Given the description of an element on the screen output the (x, y) to click on. 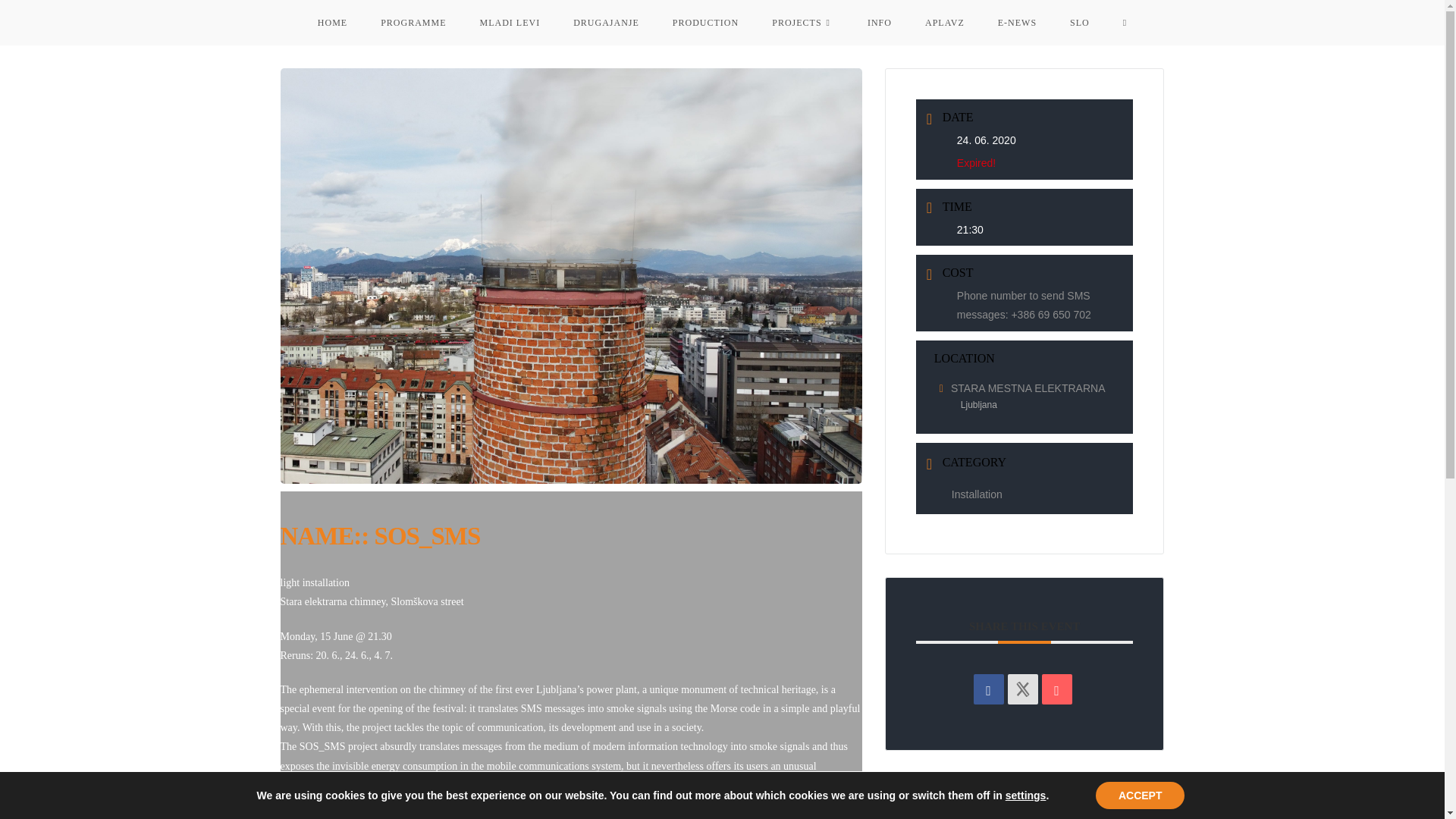
Installation (973, 494)
HOME (332, 22)
PRODUCTION (705, 22)
APLAVZ (944, 22)
DRUGAJANJE (606, 22)
TOGGLE WEBSITE SEARCH (1124, 22)
SLO (1079, 22)
MLADI LEVI (510, 22)
PROJECTS (802, 22)
PROGRAMME (413, 22)
Share on Facebook (989, 689)
E-NEWS (1016, 22)
INFO (879, 22)
X Social Network (1022, 689)
Email (1056, 689)
